Given the description of an element on the screen output the (x, y) to click on. 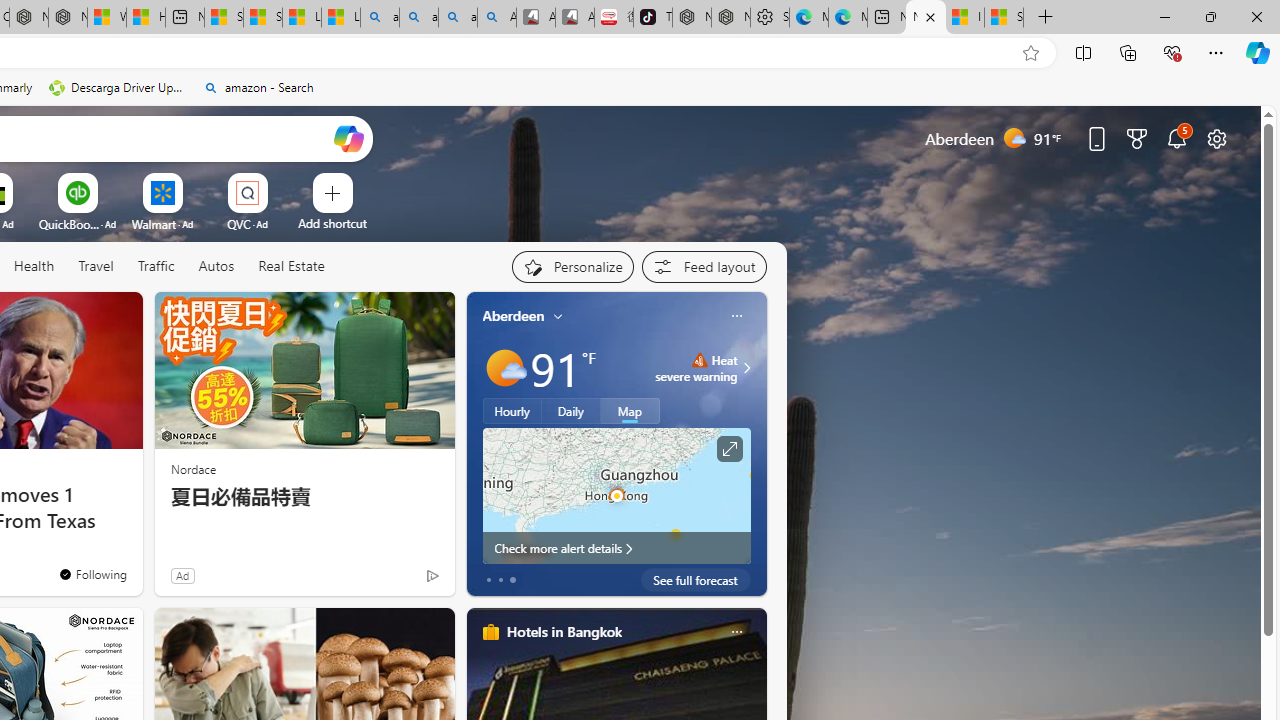
See full forecast (695, 579)
Hotels in Bangkok (563, 631)
amazon - Search Images (458, 17)
Add a site (332, 223)
Class: weather-arrow-glyph (746, 367)
You're following Newsweek (92, 573)
Amazon Echo Robot - Search Images (496, 17)
